Given the description of an element on the screen output the (x, y) to click on. 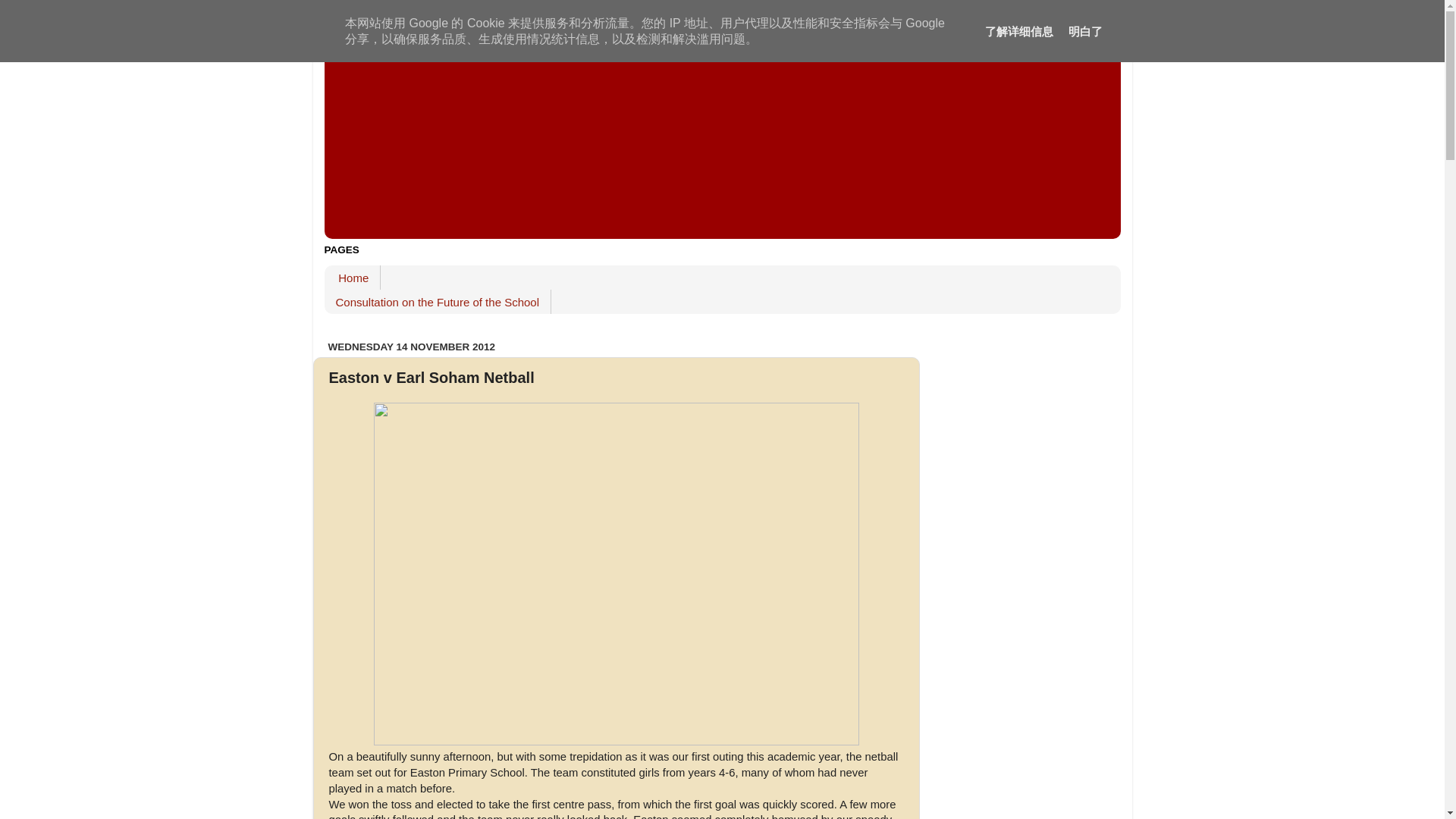
Home (352, 277)
Consultation on the Future of the School (437, 301)
